Given the description of an element on the screen output the (x, y) to click on. 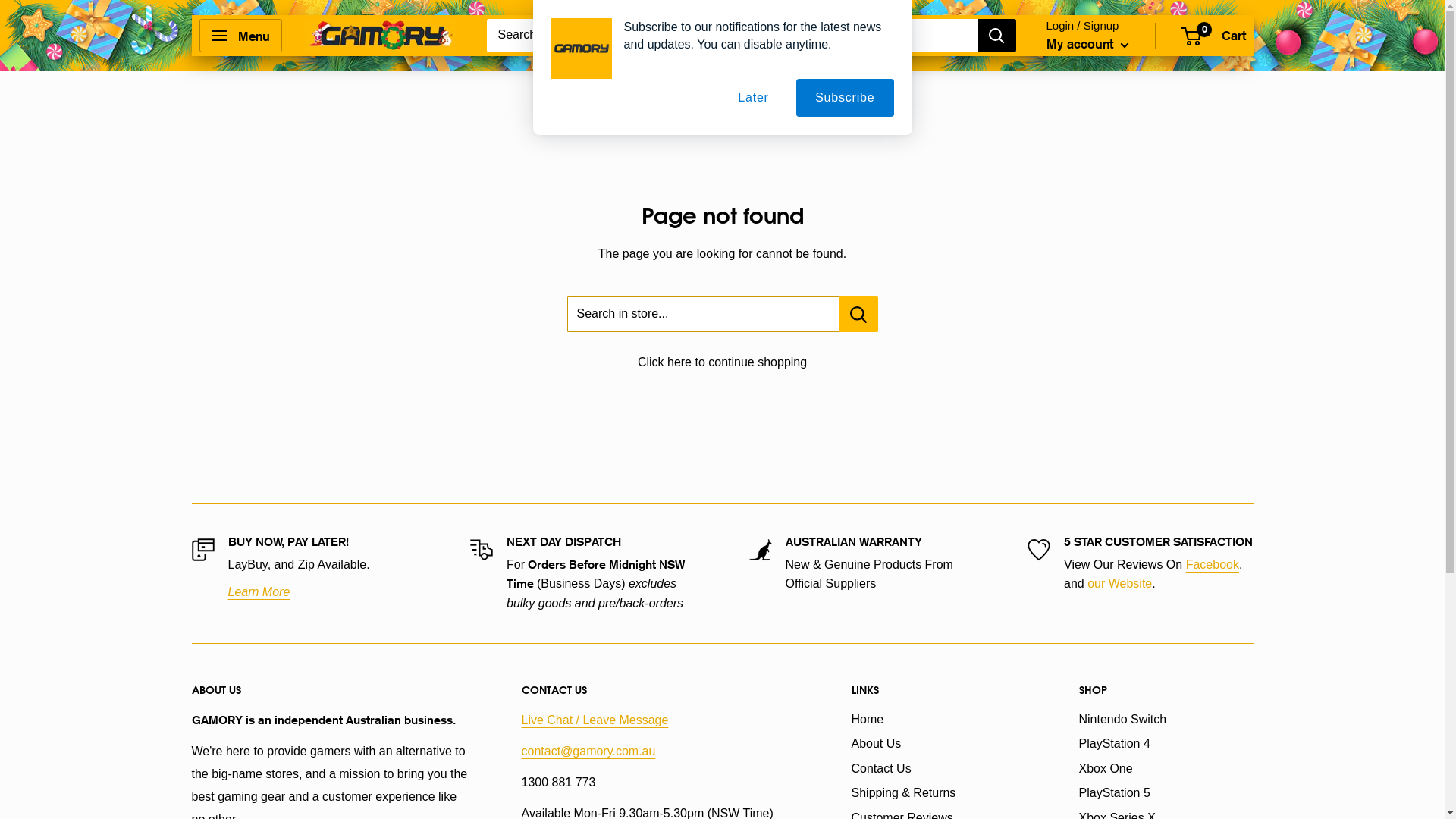
LINKS Element type: text (937, 690)
PlayStation 5 Element type: text (1165, 793)
Later Element type: text (752, 97)
Shipping & Returns Element type: text (937, 793)
Contact Us Element type: text (937, 768)
PlayStation 4 Element type: text (1165, 743)
0
Cart Element type: text (1213, 35)
contact@gamory.com.au Element type: text (588, 750)
our Website Element type: text (1119, 583)
Live Chat / Leave Message Element type: text (594, 719)
Click here to continue shopping Element type: text (721, 361)
Facebook Element type: text (1212, 564)
SHOP Element type: text (1165, 690)
Home Element type: text (937, 719)
Menu Element type: text (239, 35)
ABOUT US Element type: text (329, 690)
Nintendo Switch Element type: text (1165, 719)
My account Element type: text (1087, 43)
Xbox One Element type: text (1165, 768)
About Us Element type: text (937, 743)
Subscribe Element type: text (844, 97)
CONTACT US Element type: text (659, 690)
Learn More Element type: text (258, 591)
